Given the description of an element on the screen output the (x, y) to click on. 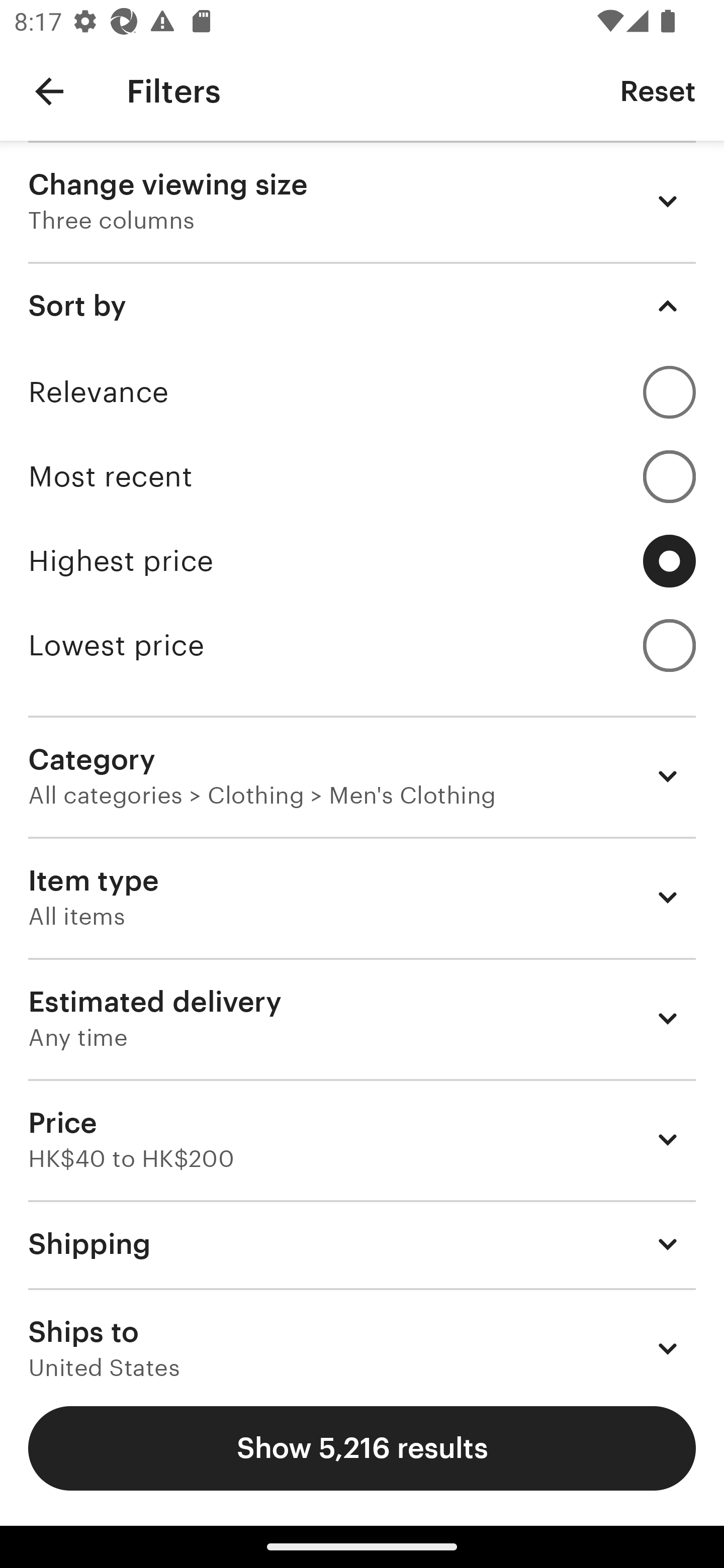
Navigate up (49, 91)
Reset (657, 90)
Change viewing size Three columns (362, 201)
Sort by (362, 305)
Relevance (362, 391)
Most recent (362, 476)
Highest price (362, 561)
Lowest price (362, 644)
Item type All items (362, 897)
Estimated delivery Any time (362, 1018)
Price HK$40 to HK$200 (362, 1138)
Shipping (362, 1243)
Ships to United States (362, 1332)
Show 5,216 results (361, 1448)
